Given the description of an element on the screen output the (x, y) to click on. 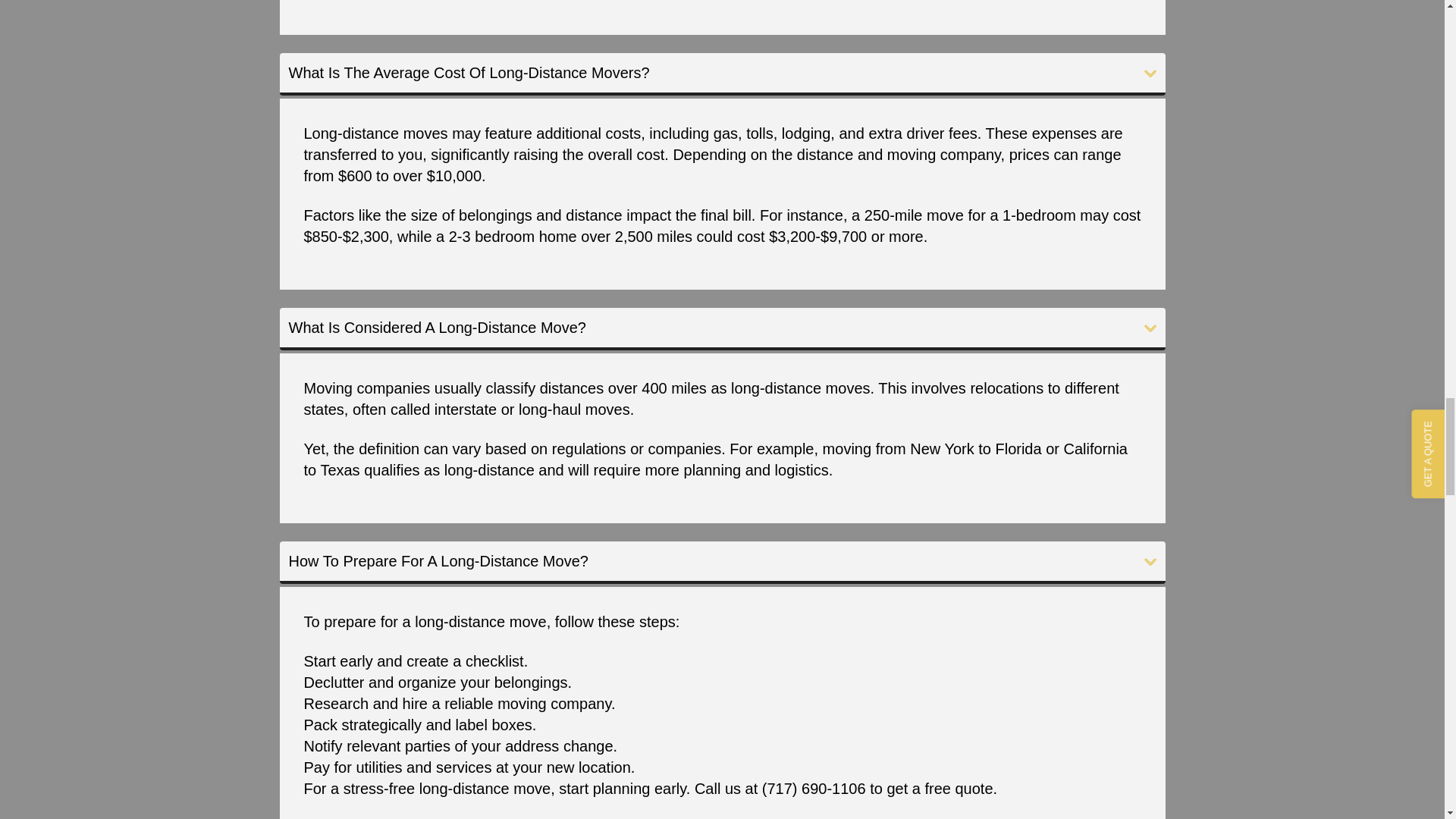
Arrow Down (1149, 73)
Arrow Down (1149, 562)
Arrow Down (1149, 328)
